Given the description of an element on the screen output the (x, y) to click on. 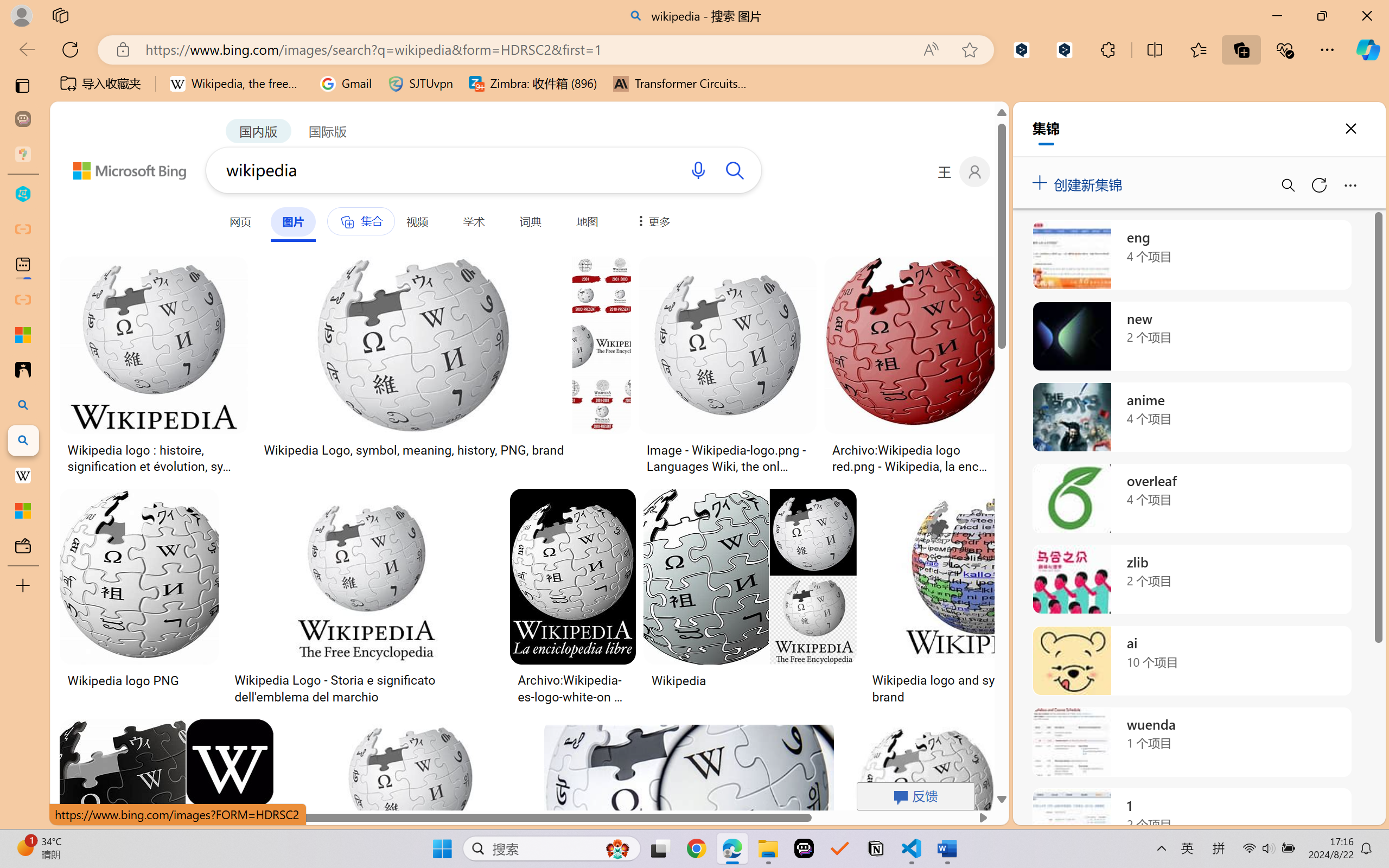
Wikipedia Logo, symbol, meaning, history, PNG, brand (412, 450)
SJTUvpn (419, 83)
Wikipedia logo PNG (122, 680)
